Given the description of an element on the screen output the (x, y) to click on. 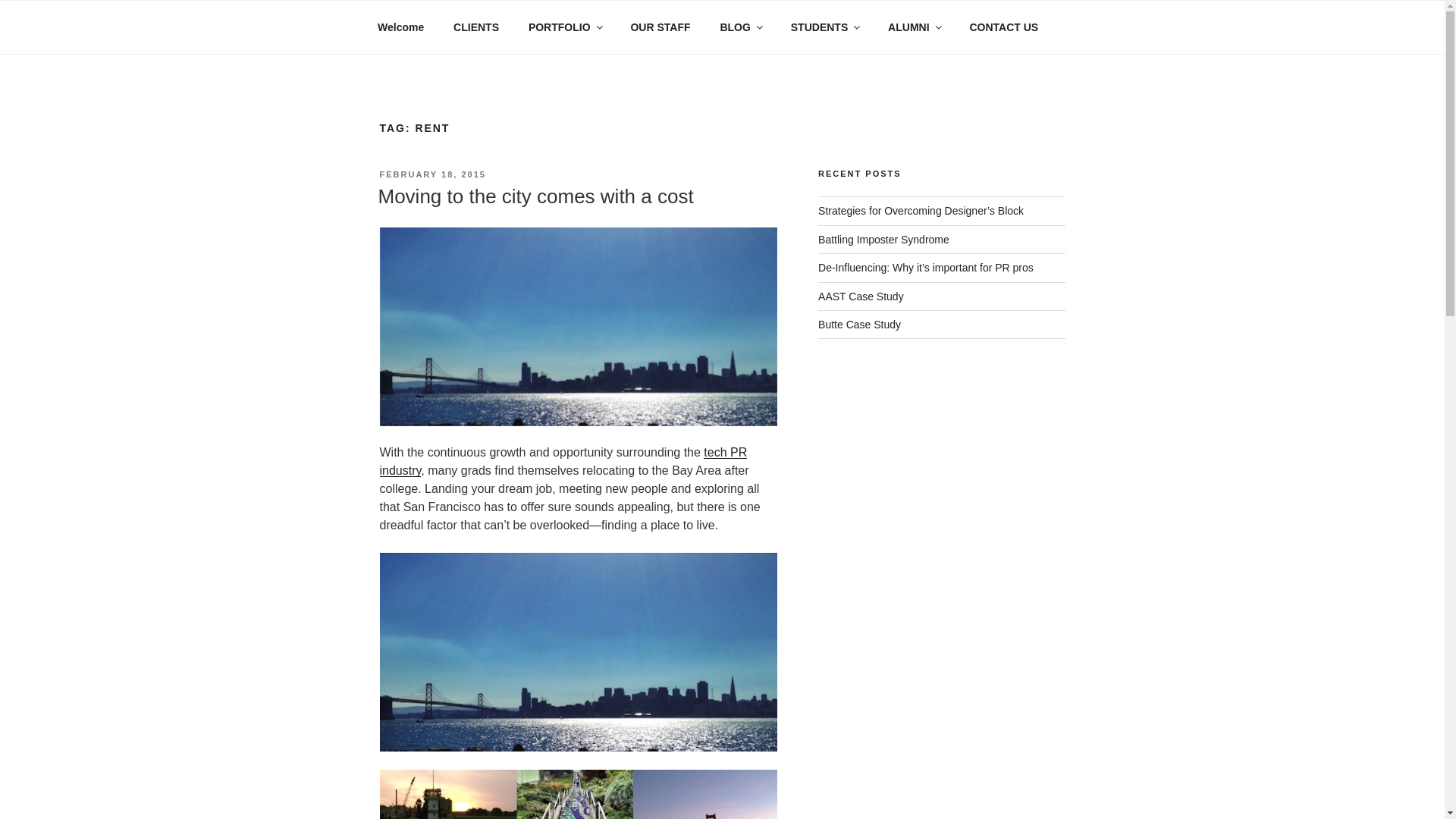
OUR STAFF (660, 27)
ALUMNI (914, 27)
PORTFOLIO (564, 27)
CLIENTS (476, 27)
STUDENTS (823, 27)
BLOG (740, 27)
Welcome (400, 27)
